Given the description of an element on the screen output the (x, y) to click on. 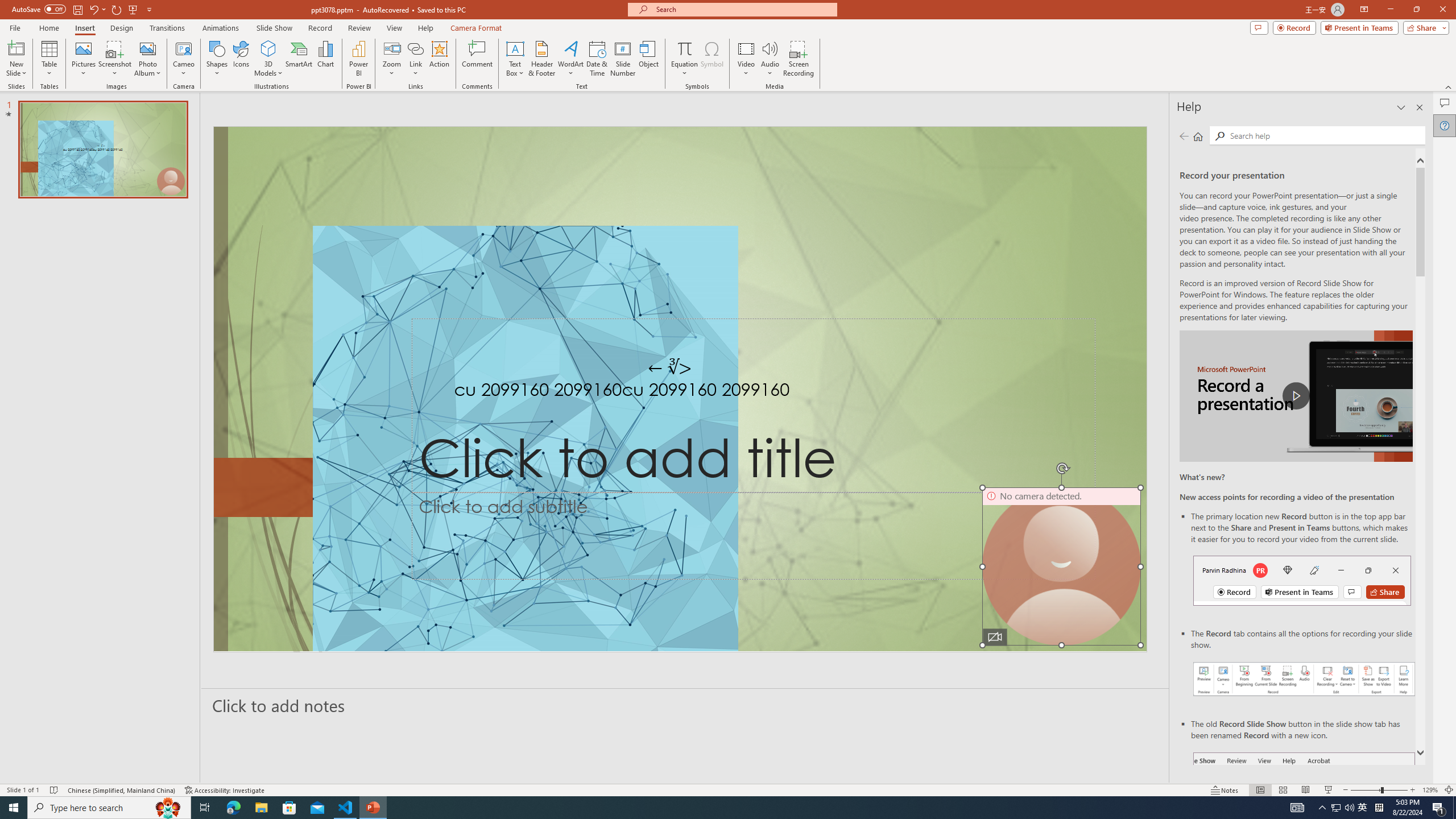
Screen Recording... (798, 58)
play Record a Presentation (1296, 395)
Chart... (325, 58)
TextBox 61 (678, 391)
Subtitle TextBox (753, 535)
